Given the description of an element on the screen output the (x, y) to click on. 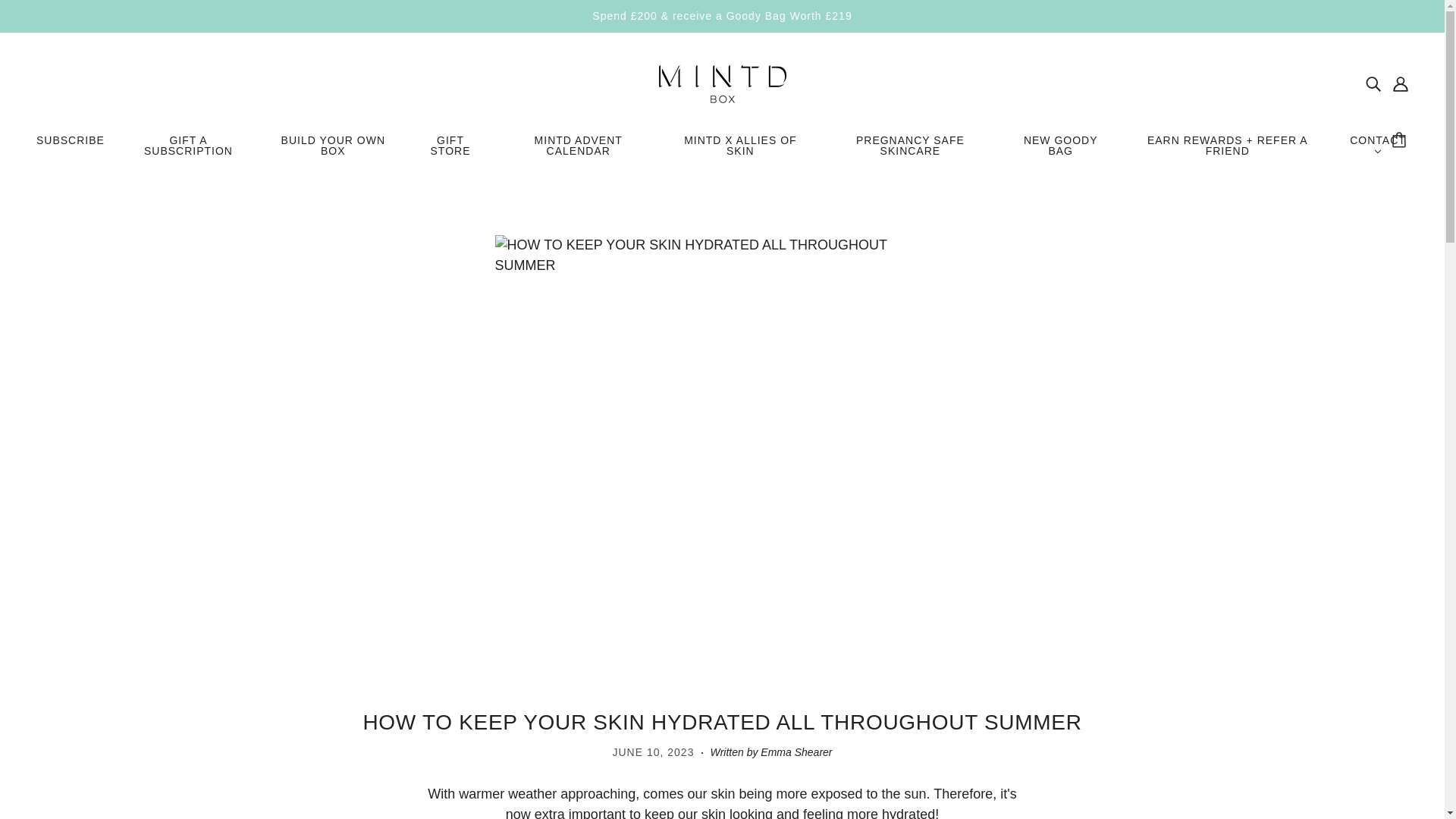
GIFT STORE (450, 151)
NEW GOODY BAG (1060, 151)
MINTD X ALLIES OF SKIN (740, 151)
PREGNANCY SAFE SKINCARE (909, 151)
SUBSCRIBE (70, 145)
GIFT A SUBSCRIPTION (188, 151)
MINTD ADVENT CALENDAR (578, 151)
BUILD YOUR OWN BOX (333, 151)
CONTACT (1378, 151)
MINTD Box (721, 82)
